Given the description of an element on the screen output the (x, y) to click on. 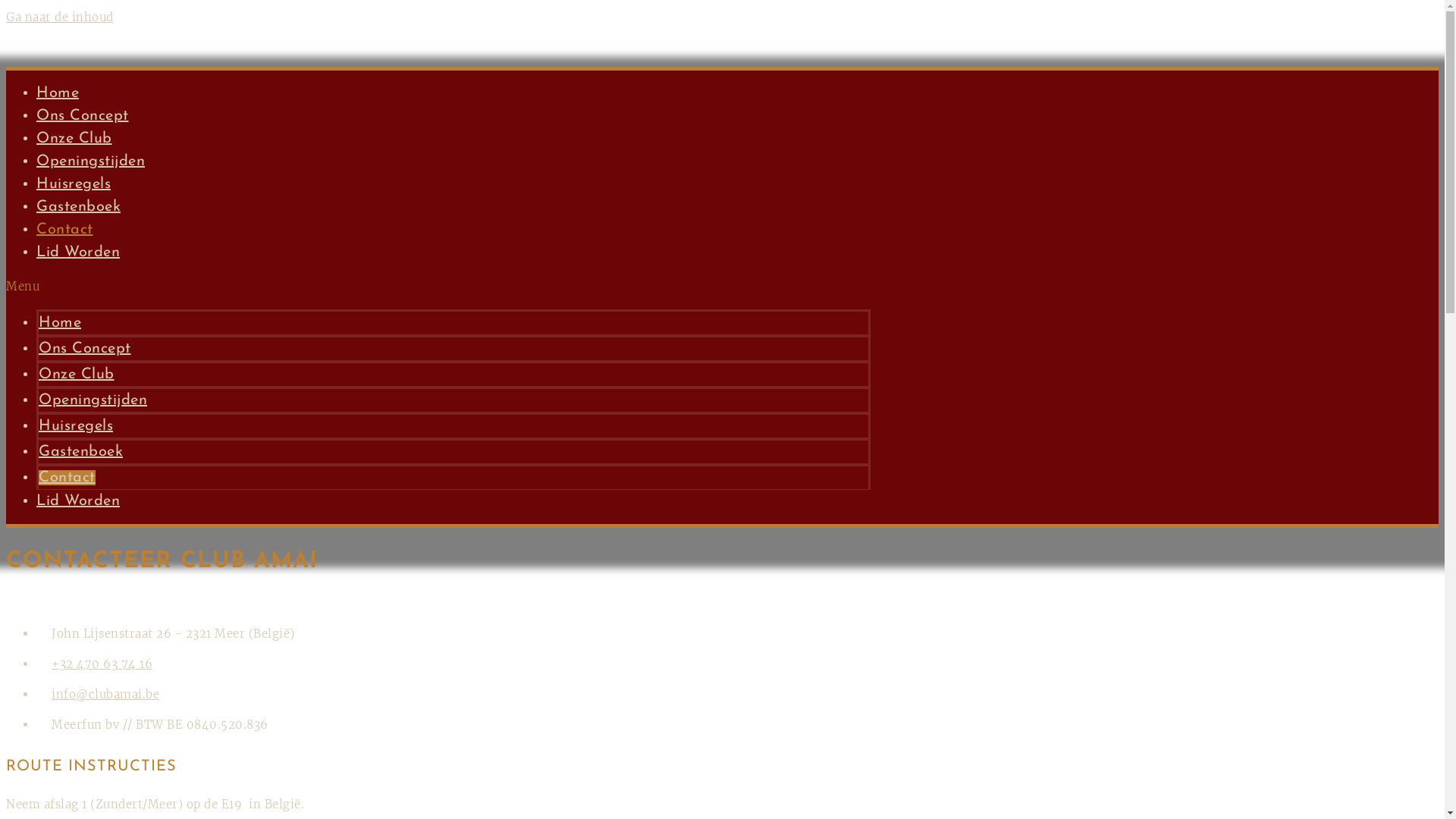
Ga naar de inhoud Element type: text (59, 16)
Openingstijden Element type: text (92, 399)
Huisregels Element type: text (73, 184)
Gastenboek Element type: text (78, 206)
Home Element type: text (57, 93)
Ons Concept Element type: text (84, 348)
Onze Club Element type: text (74, 138)
info@clubamai.be Element type: text (97, 694)
Ons Concept Element type: text (82, 115)
Onze Club Element type: text (76, 374)
Contact Element type: text (64, 229)
Lid Worden Element type: text (77, 500)
Lid Worden Element type: text (77, 252)
Huisregels Element type: text (75, 425)
Openingstijden Element type: text (90, 161)
Home Element type: text (59, 322)
Contact Element type: text (66, 477)
Gastenboek Element type: text (80, 451)
+32 470 63 74 16 Element type: text (94, 663)
